Given the description of an element on the screen output the (x, y) to click on. 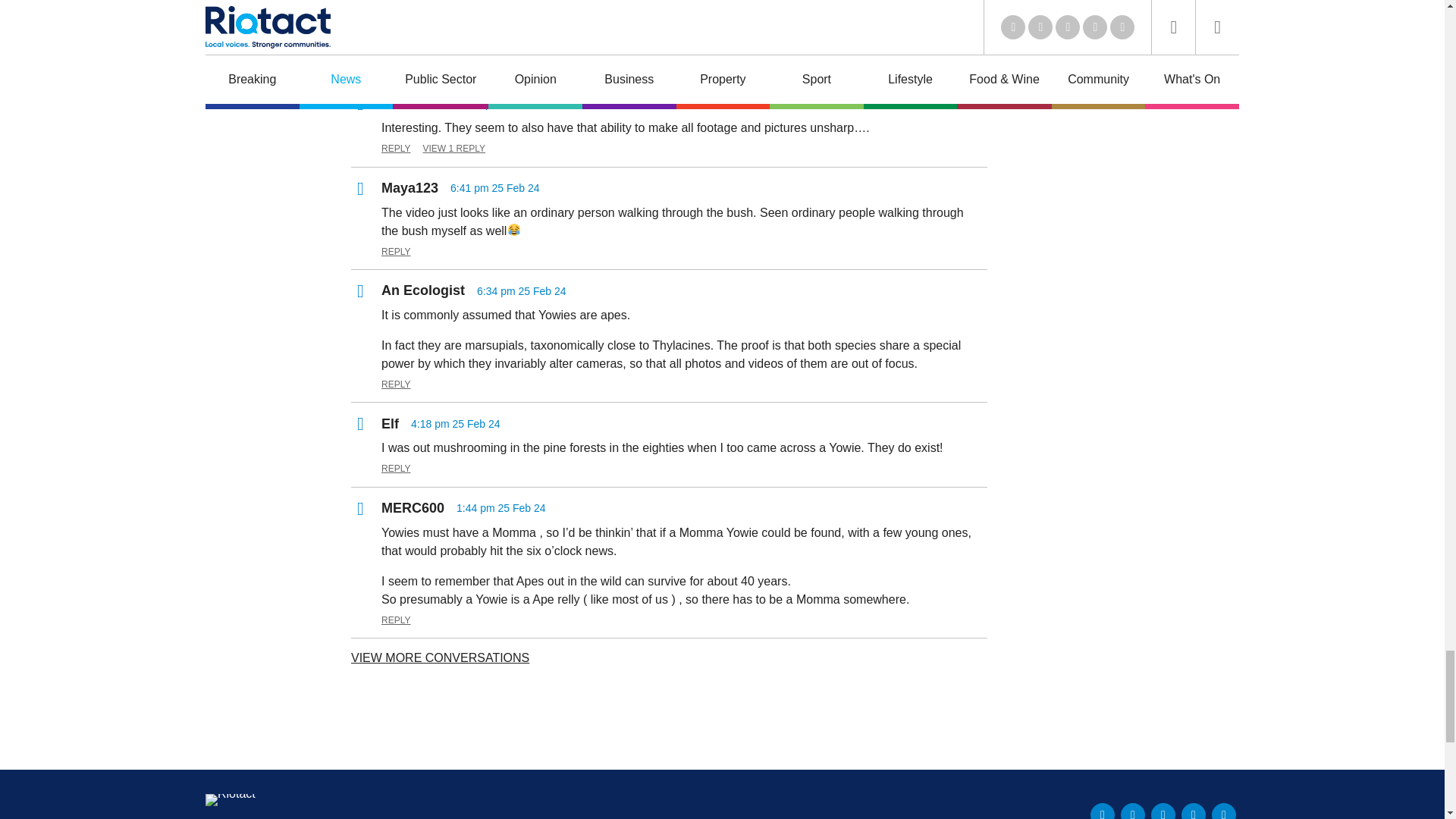
LinkedIn (1102, 811)
